Given the description of an element on the screen output the (x, y) to click on. 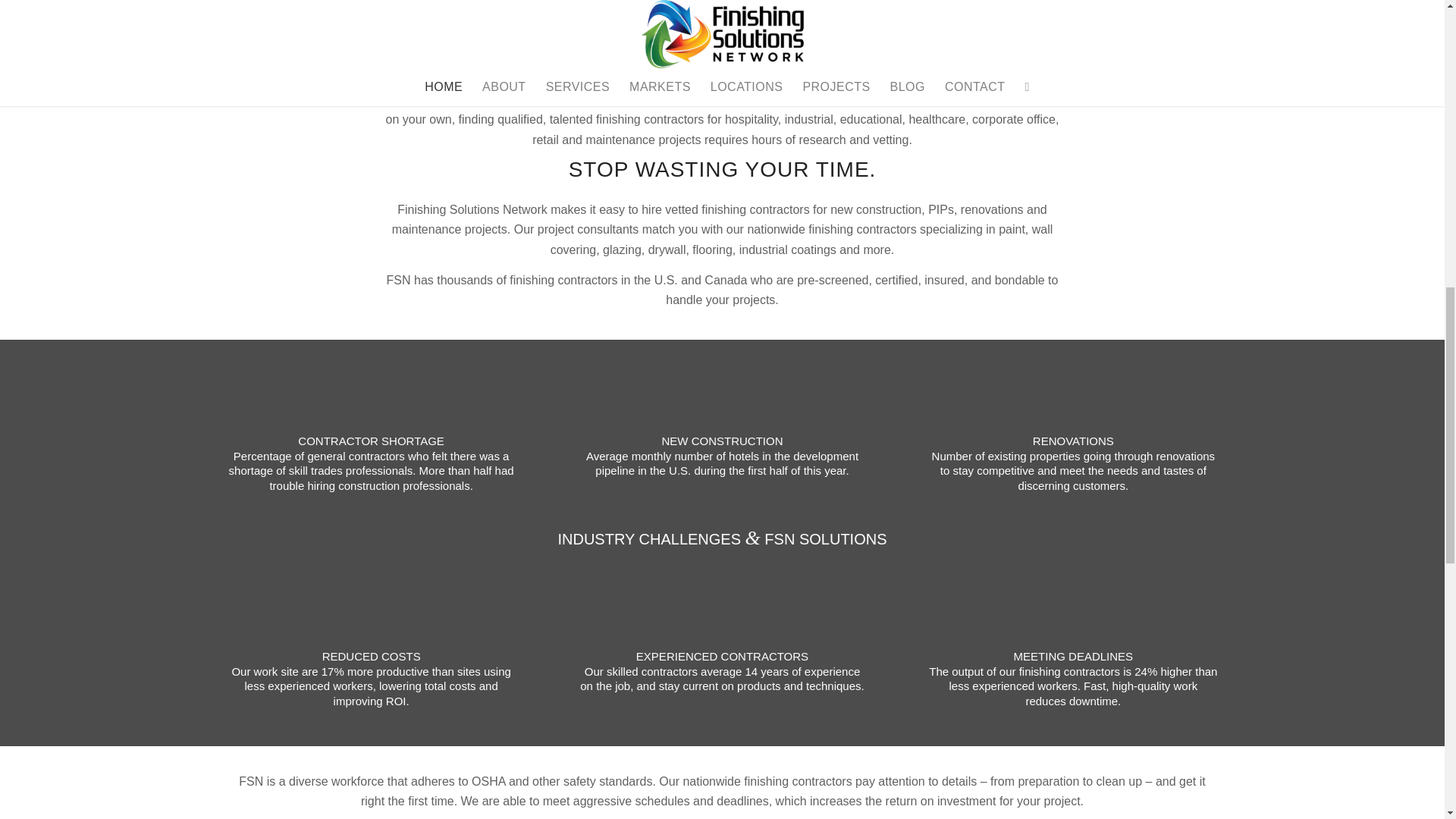
LEARN MORE (391, 31)
LEARN MORE (1053, 31)
LEARN MORE (722, 31)
